Given the description of an element on the screen output the (x, y) to click on. 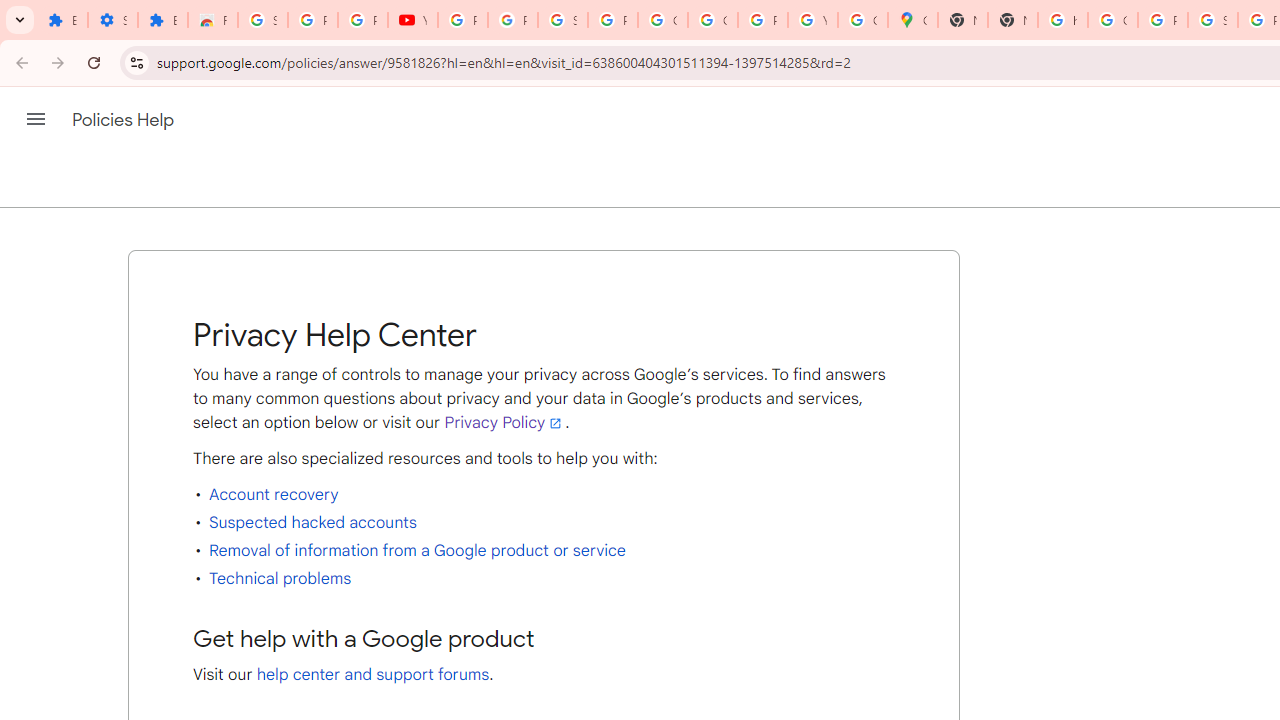
https://scholar.google.com/ (1062, 20)
Removal of information from a Google product or service (416, 550)
Extensions (163, 20)
YouTube (412, 20)
Extensions (62, 20)
Suspected hacked accounts (312, 522)
YouTube (813, 20)
